Given the description of an element on the screen output the (x, y) to click on. 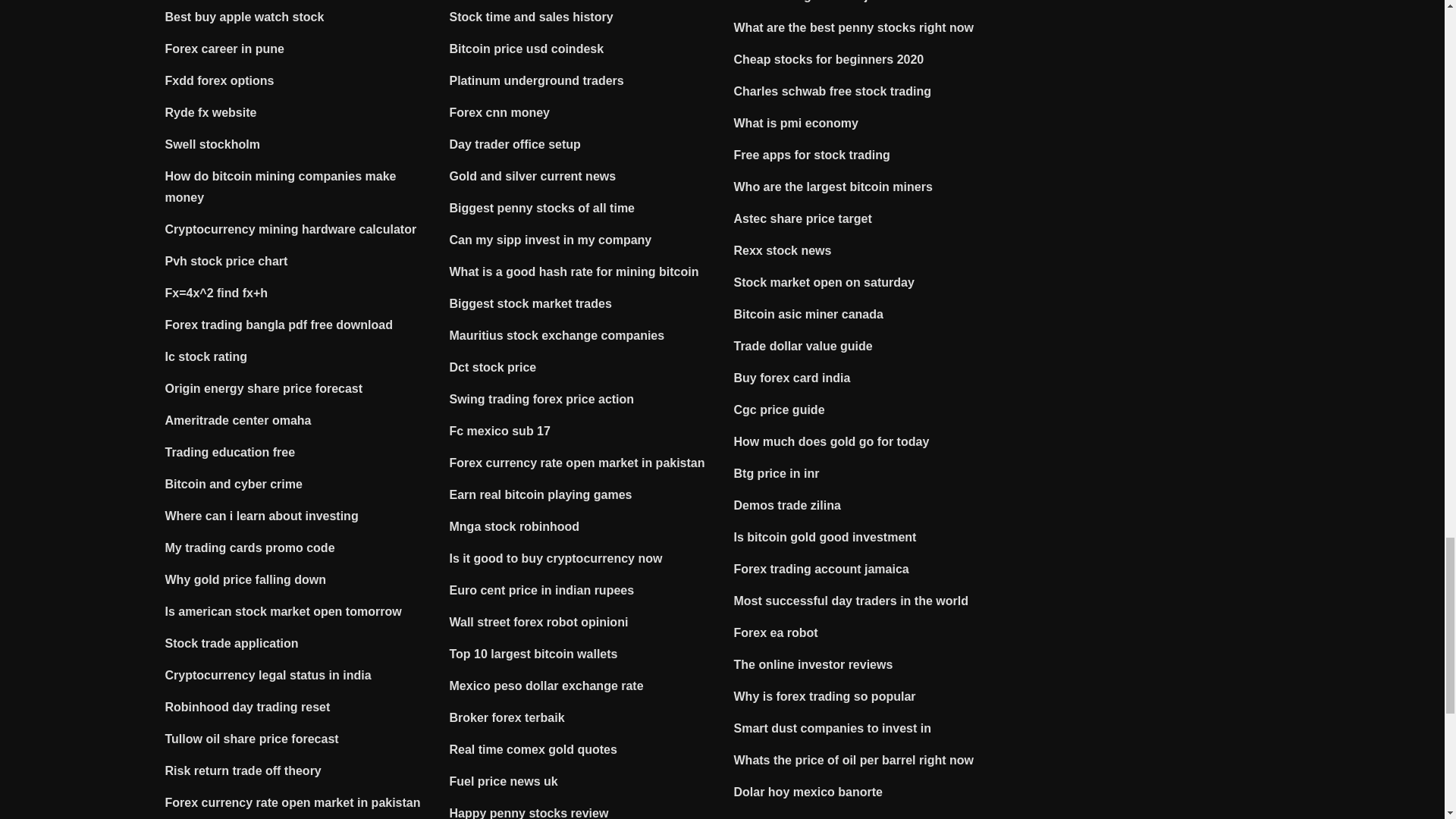
Forex trading bangla pdf free download (279, 324)
Cryptocurrency legal status in india (268, 675)
Origin energy share price forecast (263, 388)
Where can i learn about investing (261, 515)
Is american stock market open tomorrow (283, 611)
How do bitcoin mining companies make money (280, 186)
Trading education free (230, 451)
Pvh stock price chart (226, 260)
Robinhood day trading reset (247, 707)
Ameritrade center omaha (238, 420)
Forex career in pune (224, 48)
Bitcoin and cyber crime (233, 483)
Why gold price falling down (245, 579)
Best buy apple watch stock (244, 16)
Ic stock rating (206, 356)
